Given the description of an element on the screen output the (x, y) to click on. 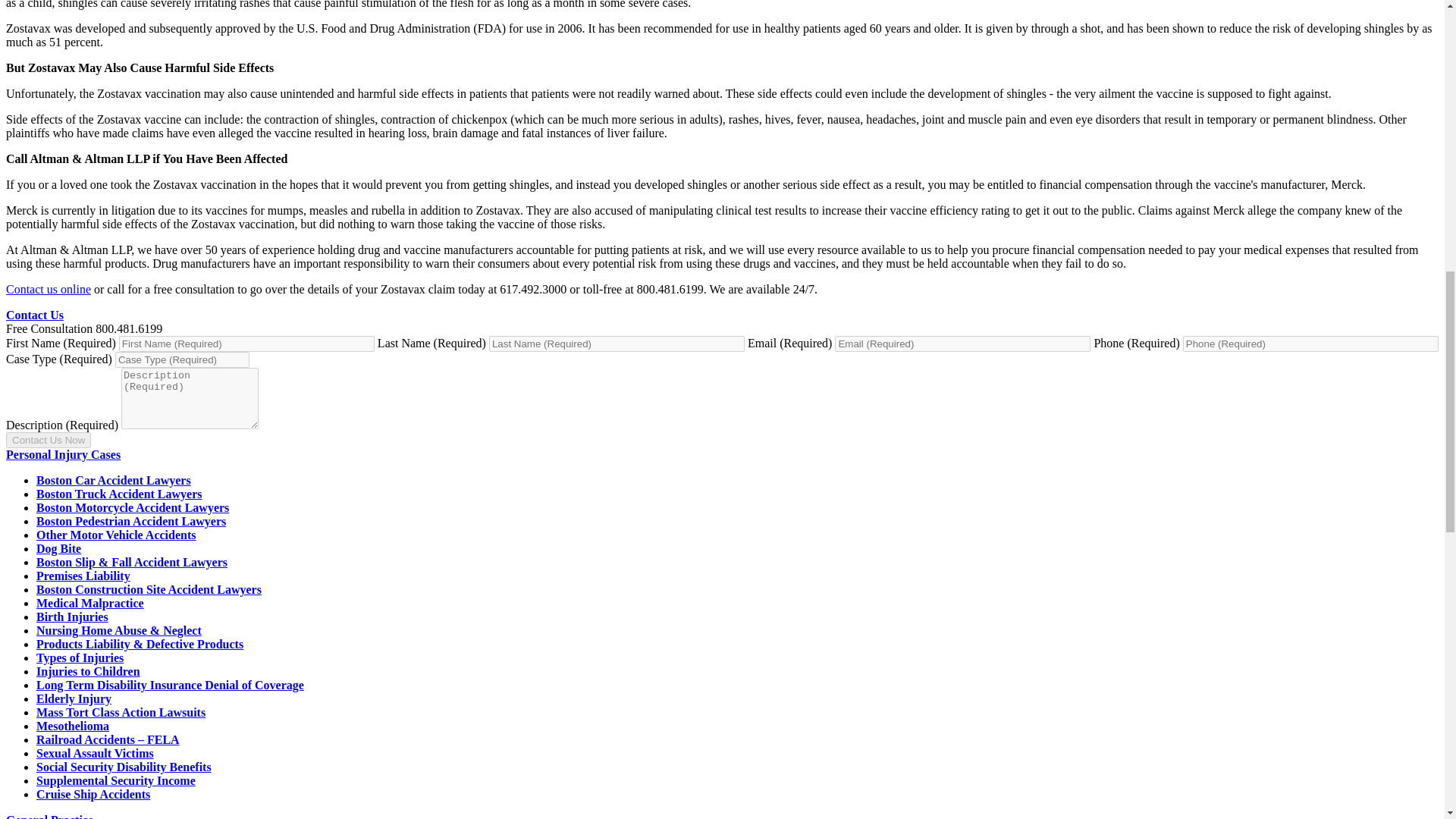
Contact Us Now (47, 439)
Personal Injury Cases (62, 454)
Contact Us (34, 314)
Contact us online (47, 288)
